Given the description of an element on the screen output the (x, y) to click on. 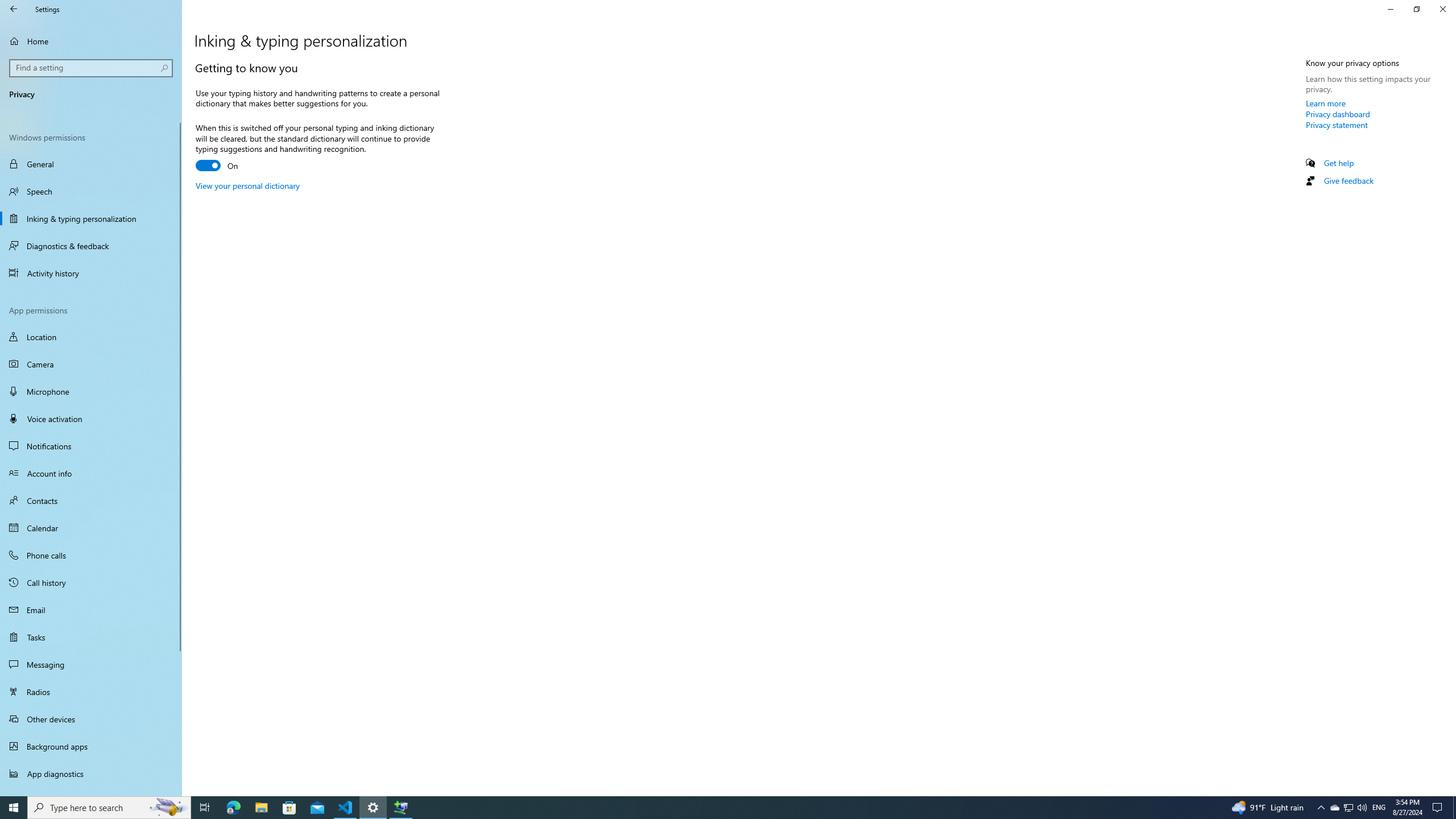
Calendar (91, 527)
Minimize Settings (1390, 9)
Restore Settings (1416, 9)
Account info (91, 472)
Location (91, 336)
Get help (1338, 162)
Camera (91, 363)
Inking & typing personalization (91, 217)
Home (91, 40)
Automatic file downloads (91, 791)
